Given the description of an element on the screen output the (x, y) to click on. 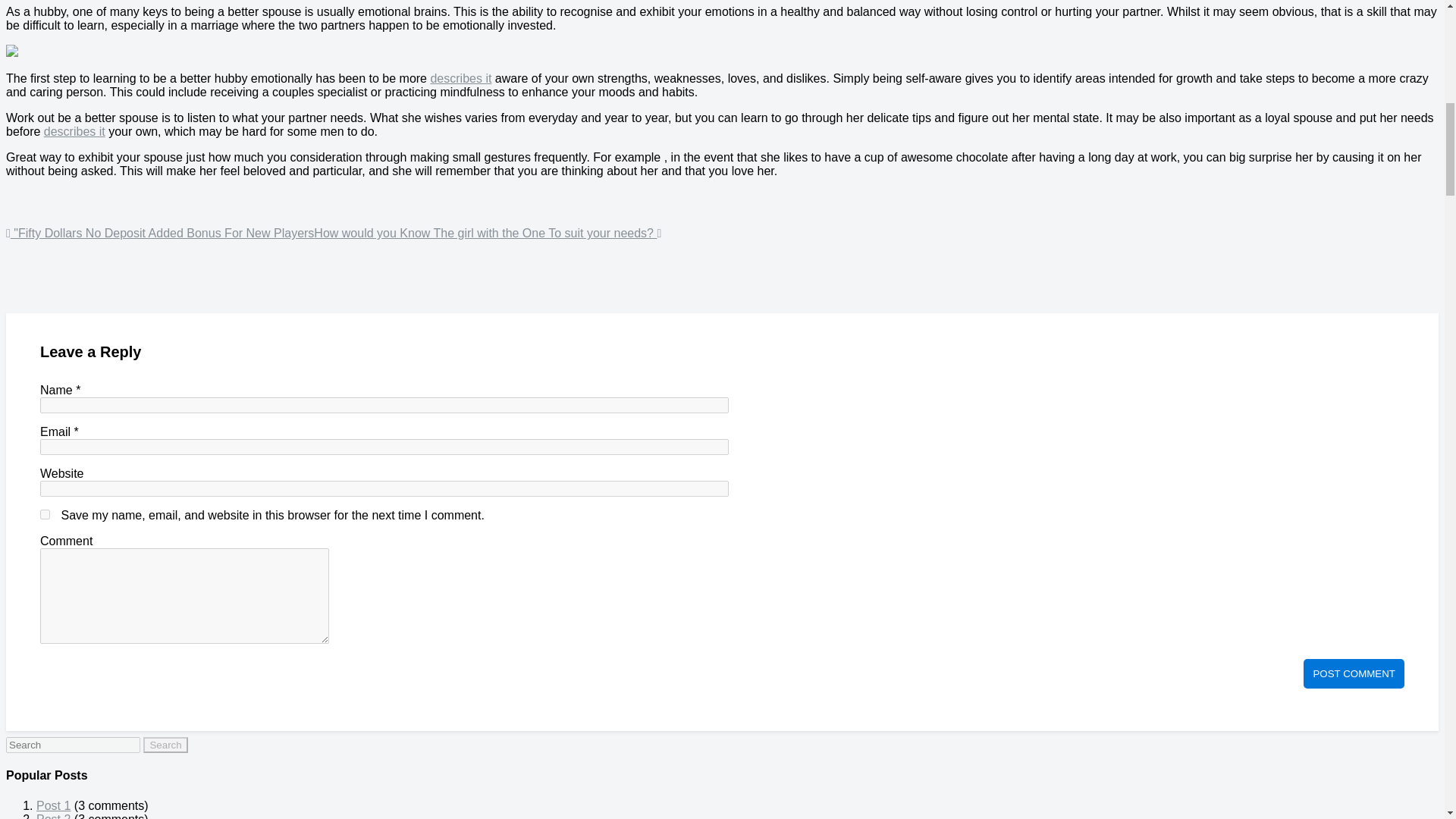
yes (44, 514)
Search (164, 744)
Post Comment (1354, 673)
How would you Know The girl with the One To suit your needs? (487, 232)
